Given the description of an element on the screen output the (x, y) to click on. 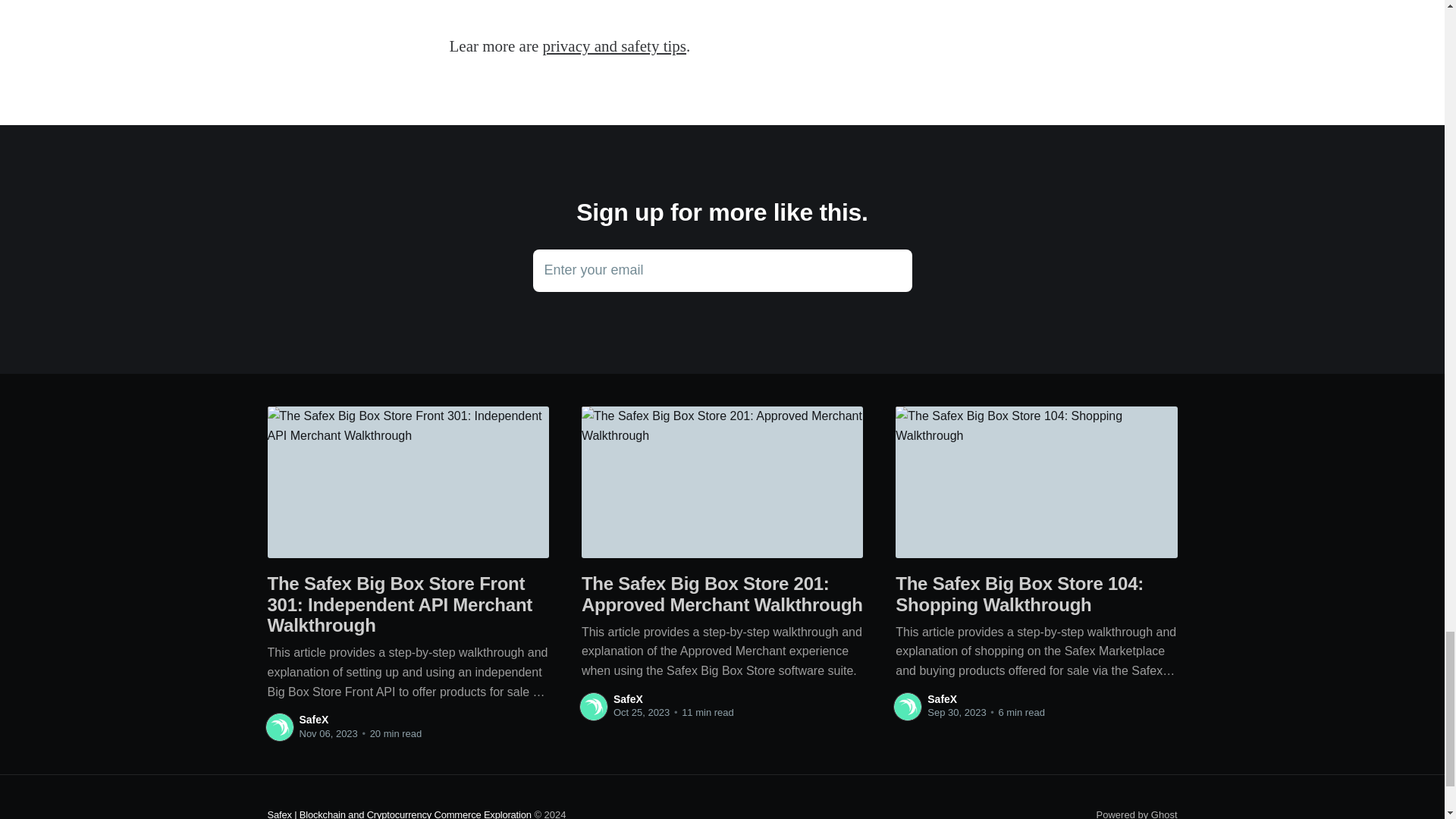
SafeX (721, 270)
SafeX (941, 698)
Powered by Ghost (627, 698)
SafeX (1136, 814)
privacy and safety tips (313, 719)
